Given the description of an element on the screen output the (x, y) to click on. 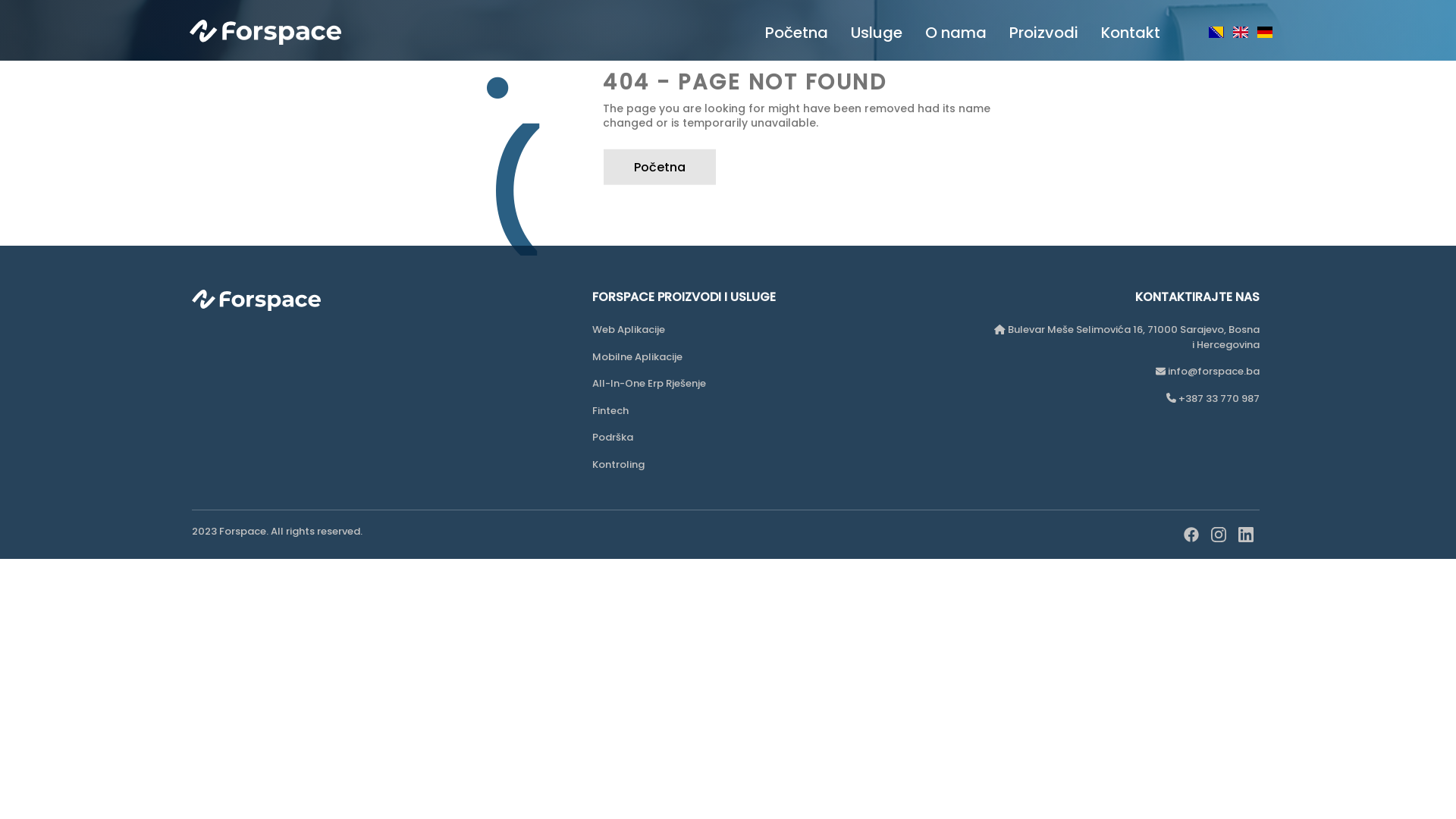
Usluge Element type: text (876, 32)
Kontakt Element type: text (1130, 32)
Proizvodi Element type: text (1043, 32)
FORSPACE PROIZVODI I USLUGE Element type: text (725, 296)
O nama Element type: text (955, 32)
KONTAKTIRAJTE NAS Element type: text (1125, 296)
